Given the description of an element on the screen output the (x, y) to click on. 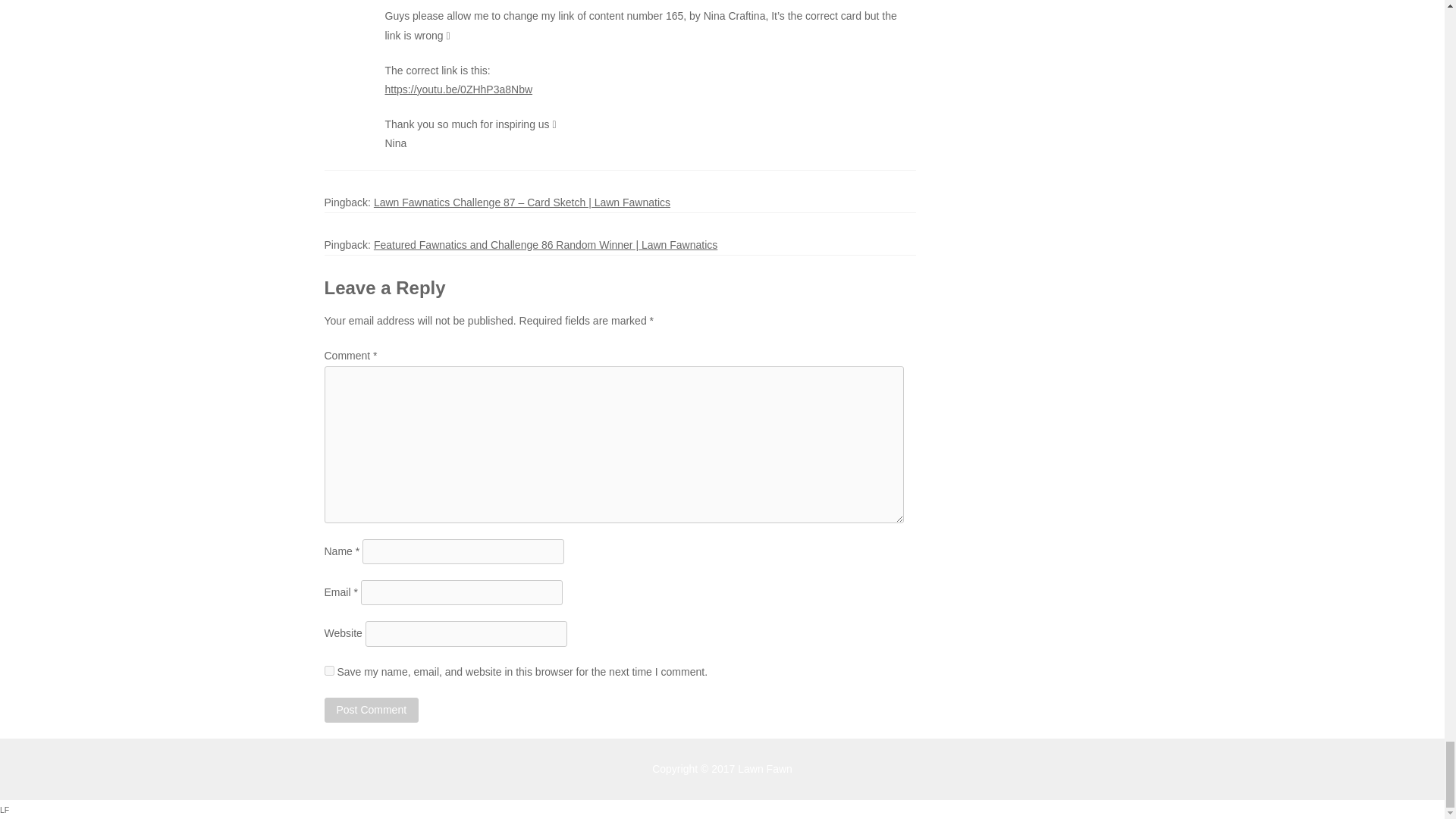
Post Comment (371, 709)
yes (329, 670)
